Given the description of an element on the screen output the (x, y) to click on. 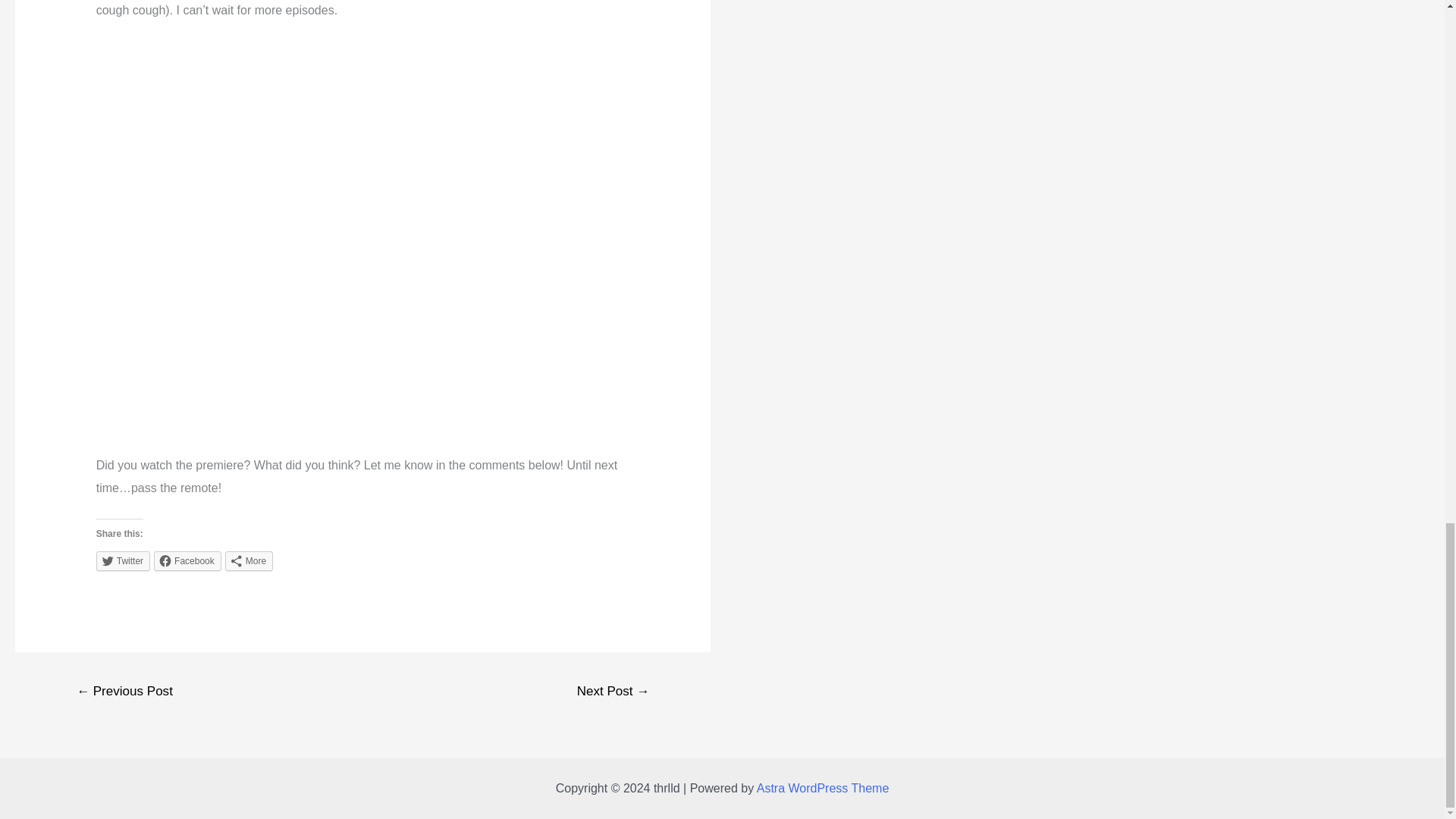
Twitter (122, 560)
Astra WordPress Theme (823, 788)
Facebook (187, 560)
Click to share on Twitter (122, 560)
More (249, 560)
Click to share on Facebook (187, 560)
